Given the description of an element on the screen output the (x, y) to click on. 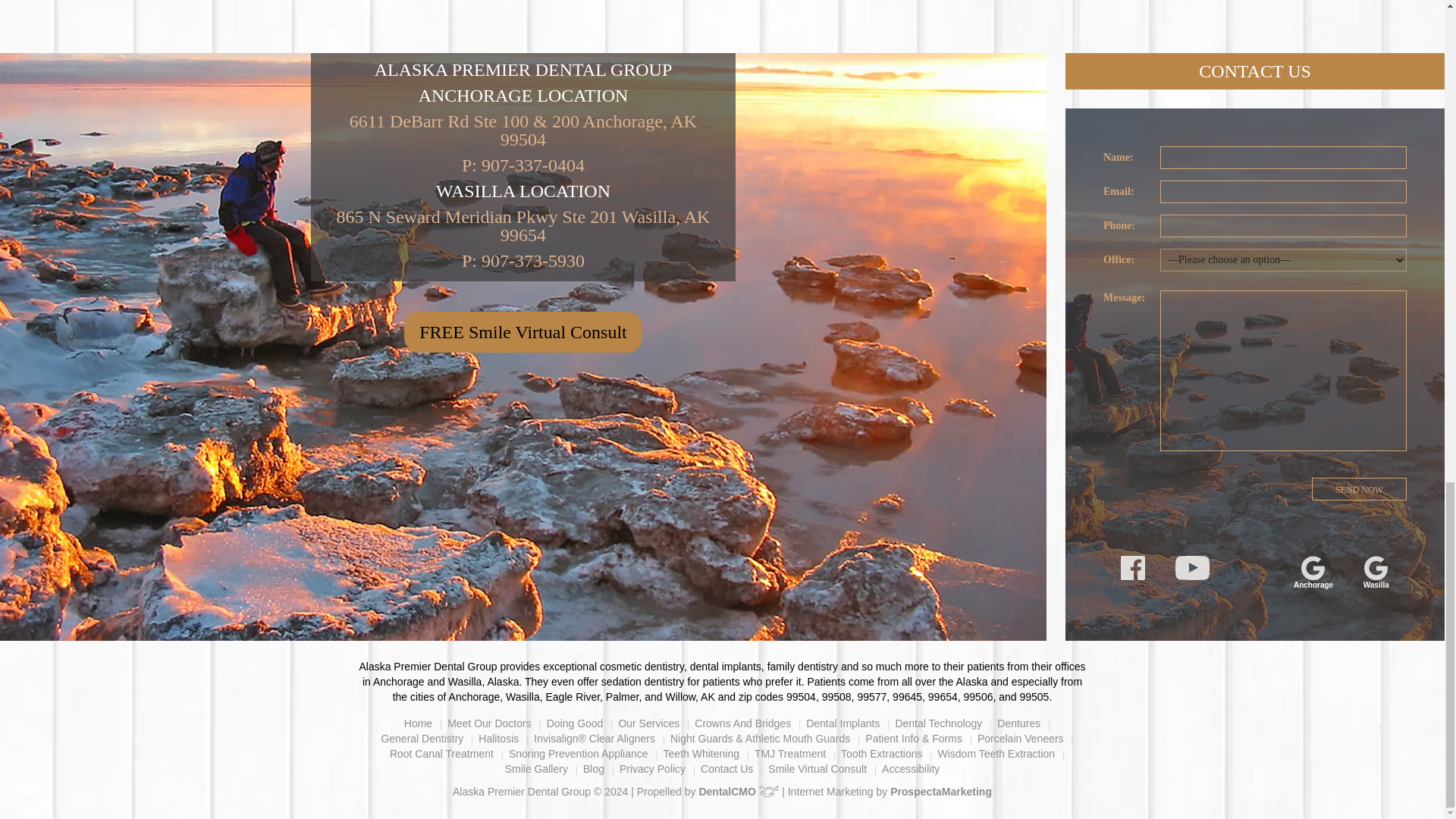
Send Now (1358, 488)
Internet Dental Marketing (940, 791)
